Given the description of an element on the screen output the (x, y) to click on. 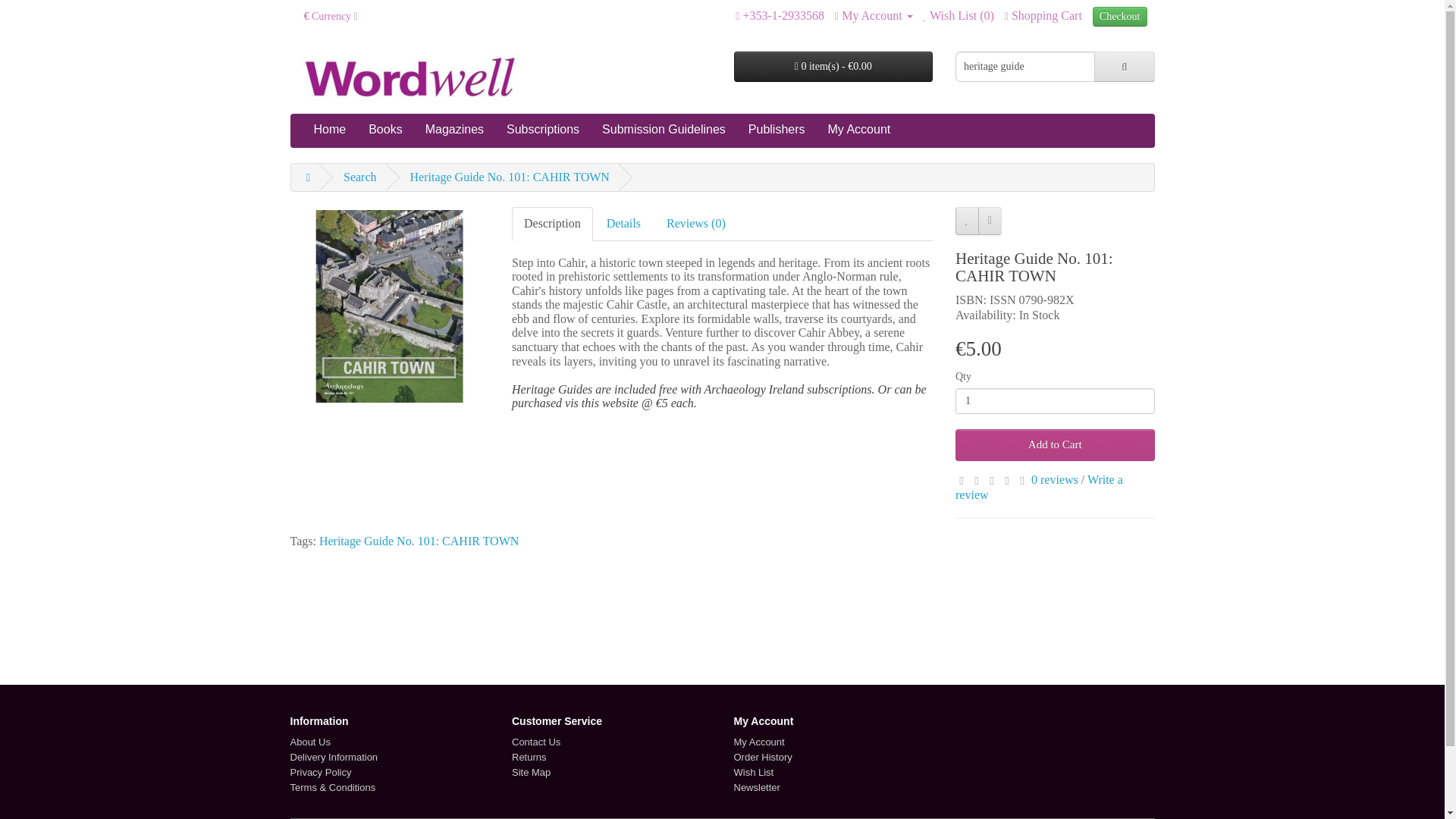
Books (384, 129)
Publishers (776, 129)
Shopping Cart (1042, 15)
Home (328, 129)
Wordwell Books (411, 78)
Heritage Guide No. 101: CAHIR TOWN (389, 306)
My Account (873, 15)
My Account (873, 15)
heritage guide (1024, 66)
Submission Guidelines (663, 129)
